Given the description of an element on the screen output the (x, y) to click on. 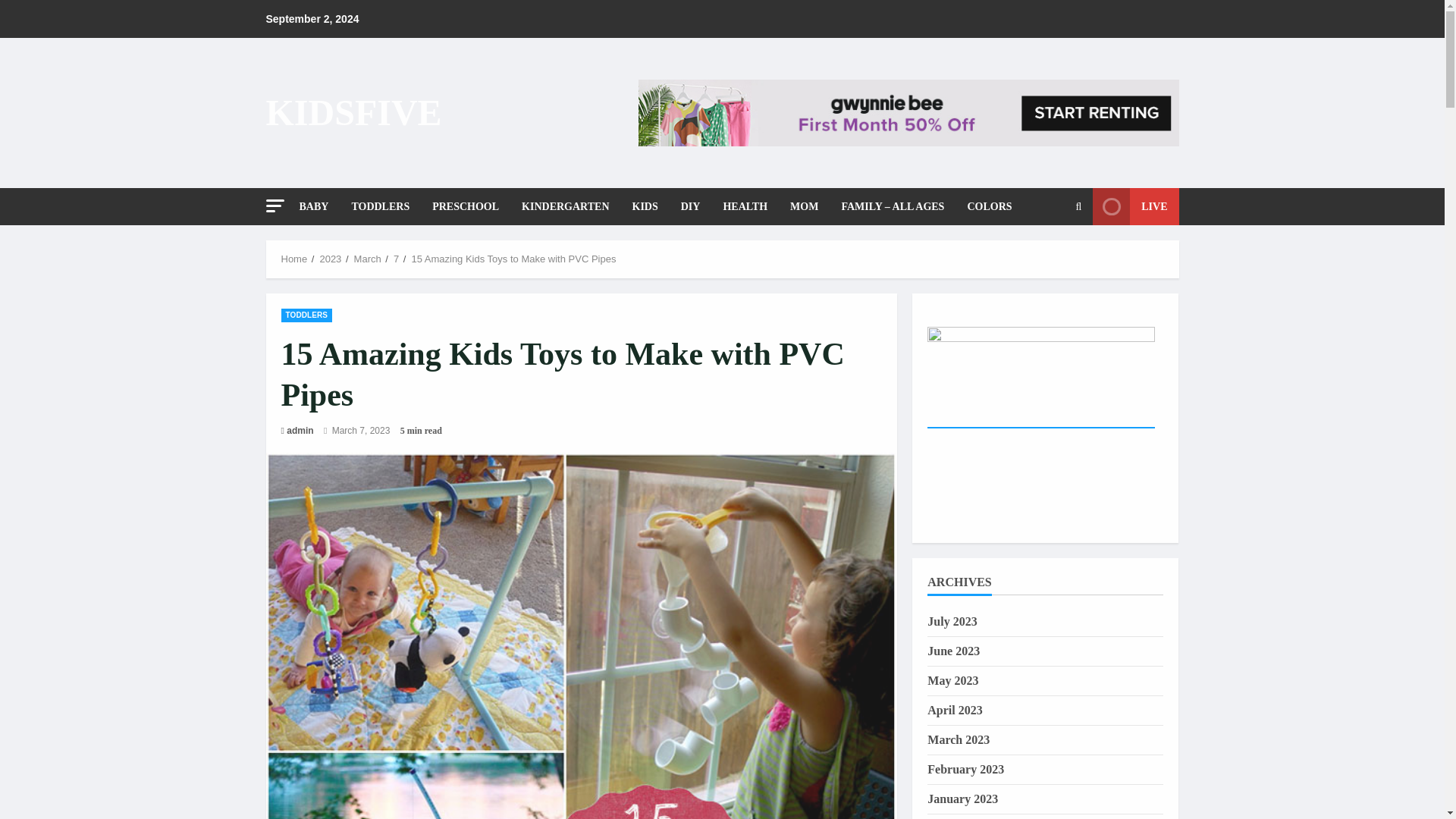
DIY (690, 206)
LIVE (1135, 206)
2023 (329, 258)
March (367, 258)
MOM (803, 206)
PRESCHOOL (465, 206)
KINDERGARTEN (565, 206)
TODDLERS (306, 315)
BABY (318, 206)
Search (1042, 258)
